Given the description of an element on the screen output the (x, y) to click on. 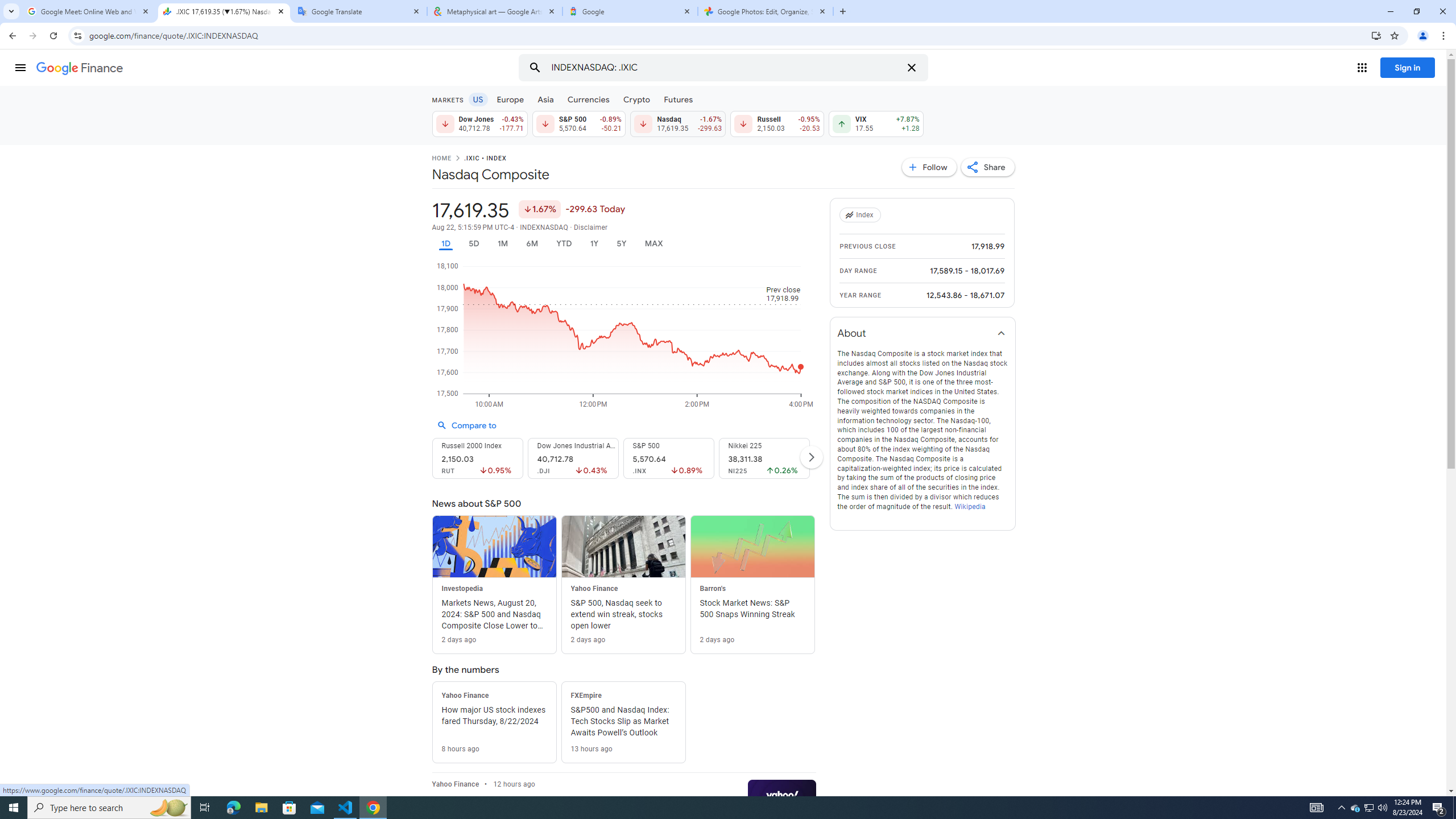
S&P 500 5,570.64 Down by 0.89% -50.21 (578, 123)
Dow Jones 40,712.78 Down by 0.43% -177.71 (478, 123)
5D (473, 243)
Google (630, 11)
Share (987, 167)
1D (445, 243)
Futures (678, 99)
